Given the description of an element on the screen output the (x, y) to click on. 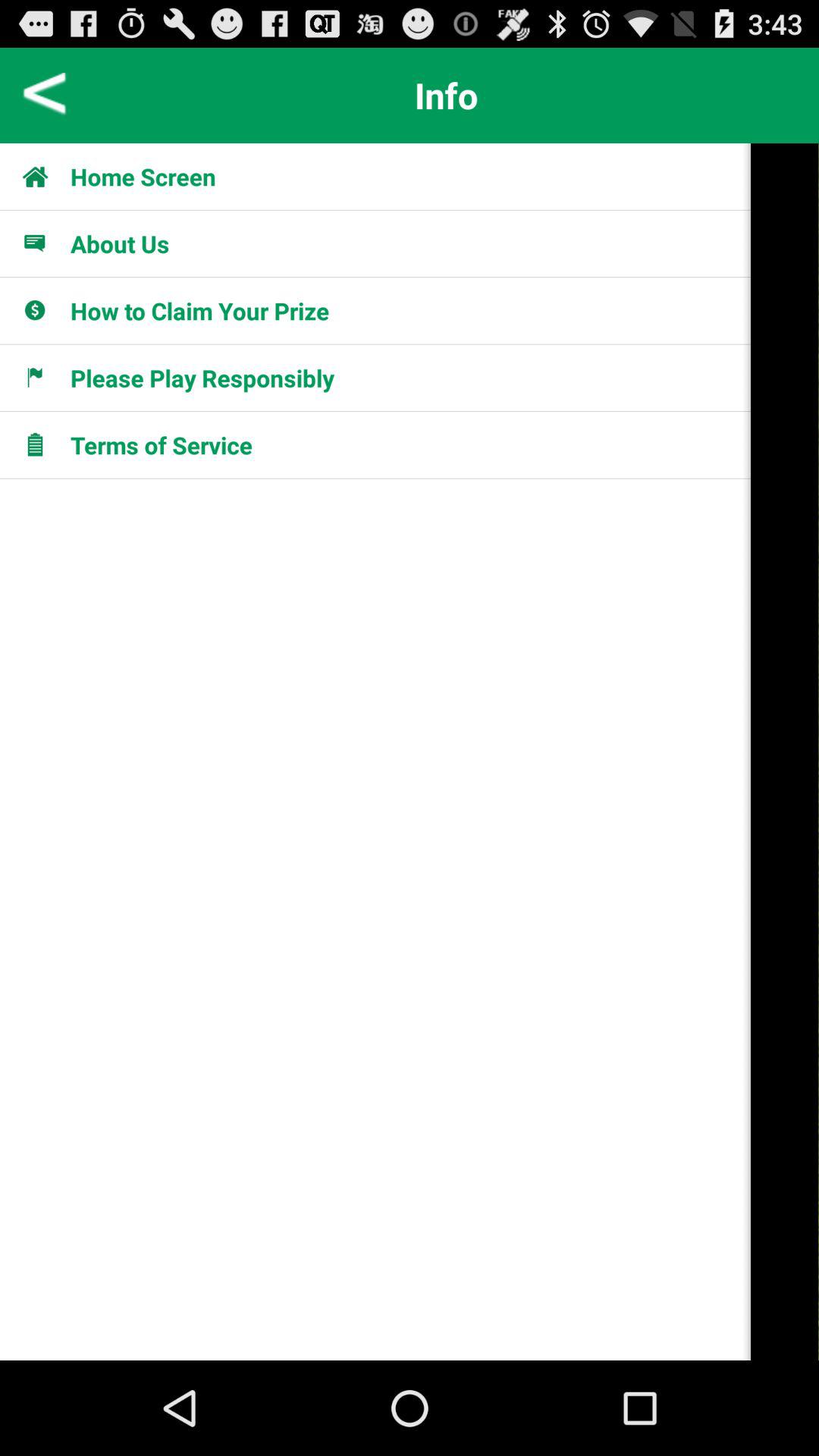
turn off the how to claim app (199, 310)
